Given the description of an element on the screen output the (x, y) to click on. 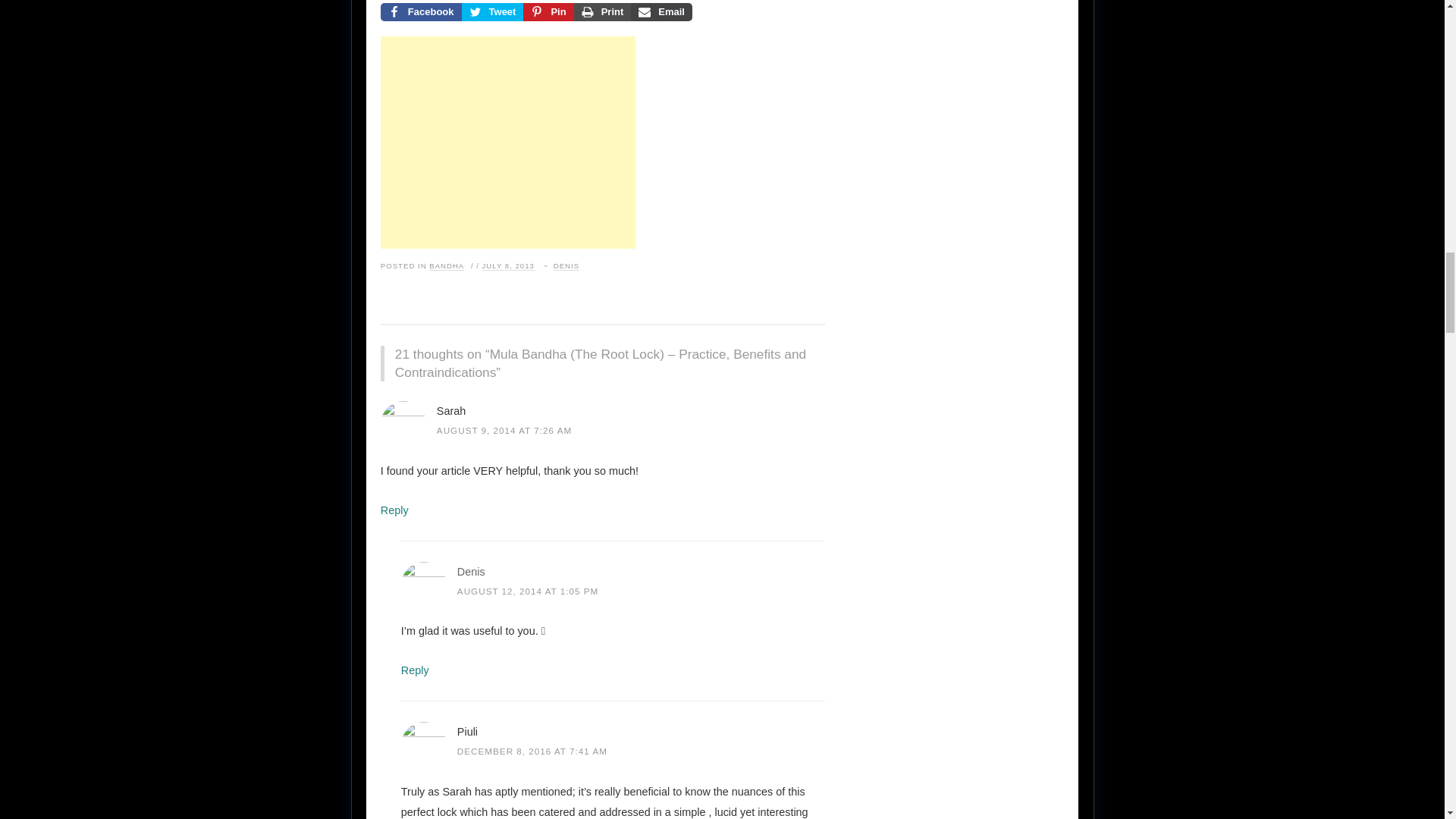
AUGUST 12, 2014 AT 1:05 PM (527, 591)
AUGUST 9, 2014 AT 7:26 AM (504, 429)
Share on Twitter (492, 12)
Email (661, 12)
Print this Page (602, 12)
Tweet (492, 12)
Facebook (420, 12)
Reply (394, 510)
JULY 8, 2013 (507, 266)
Pin (547, 12)
